Given the description of an element on the screen output the (x, y) to click on. 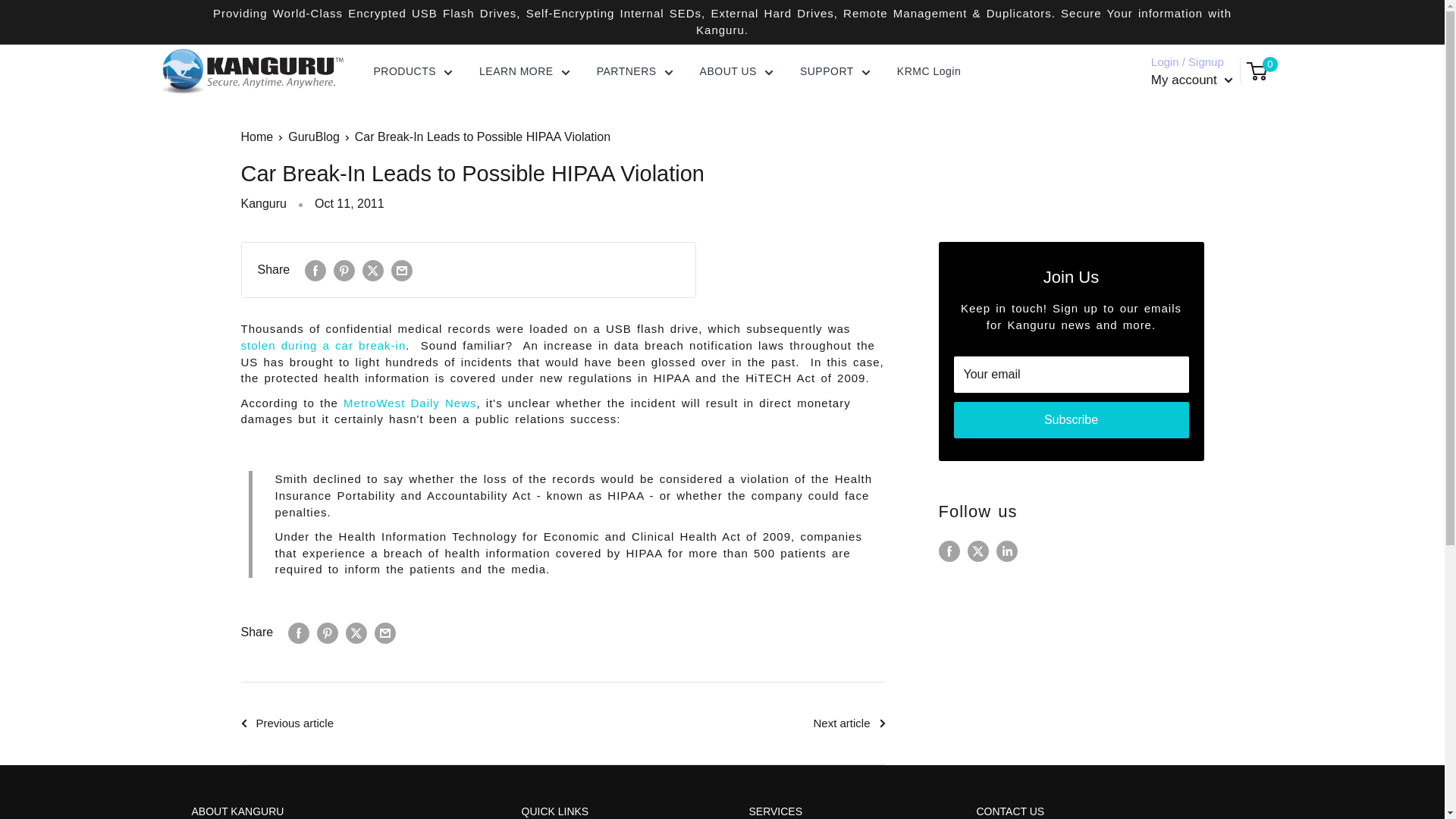
MetroWest Daily (409, 402)
MetroWest Daily (323, 345)
